Given the description of an element on the screen output the (x, y) to click on. 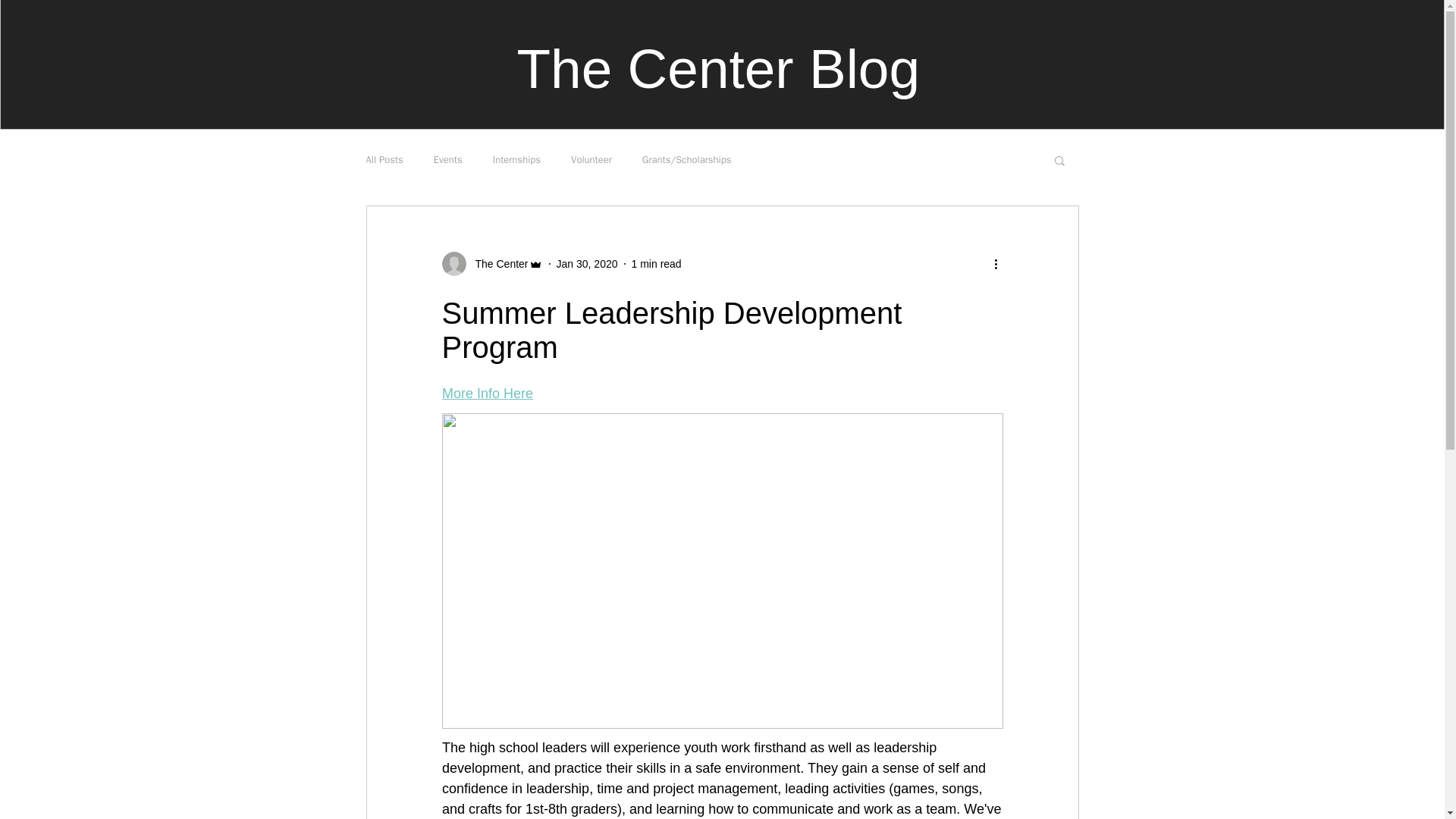
Events (448, 160)
Internships (516, 160)
The Center (496, 263)
All Posts (384, 160)
The Center Blog (718, 68)
1 min read (656, 263)
Jan 30, 2020 (586, 263)
More Info Here (486, 393)
Volunteer (590, 160)
